Given the description of an element on the screen output the (x, y) to click on. 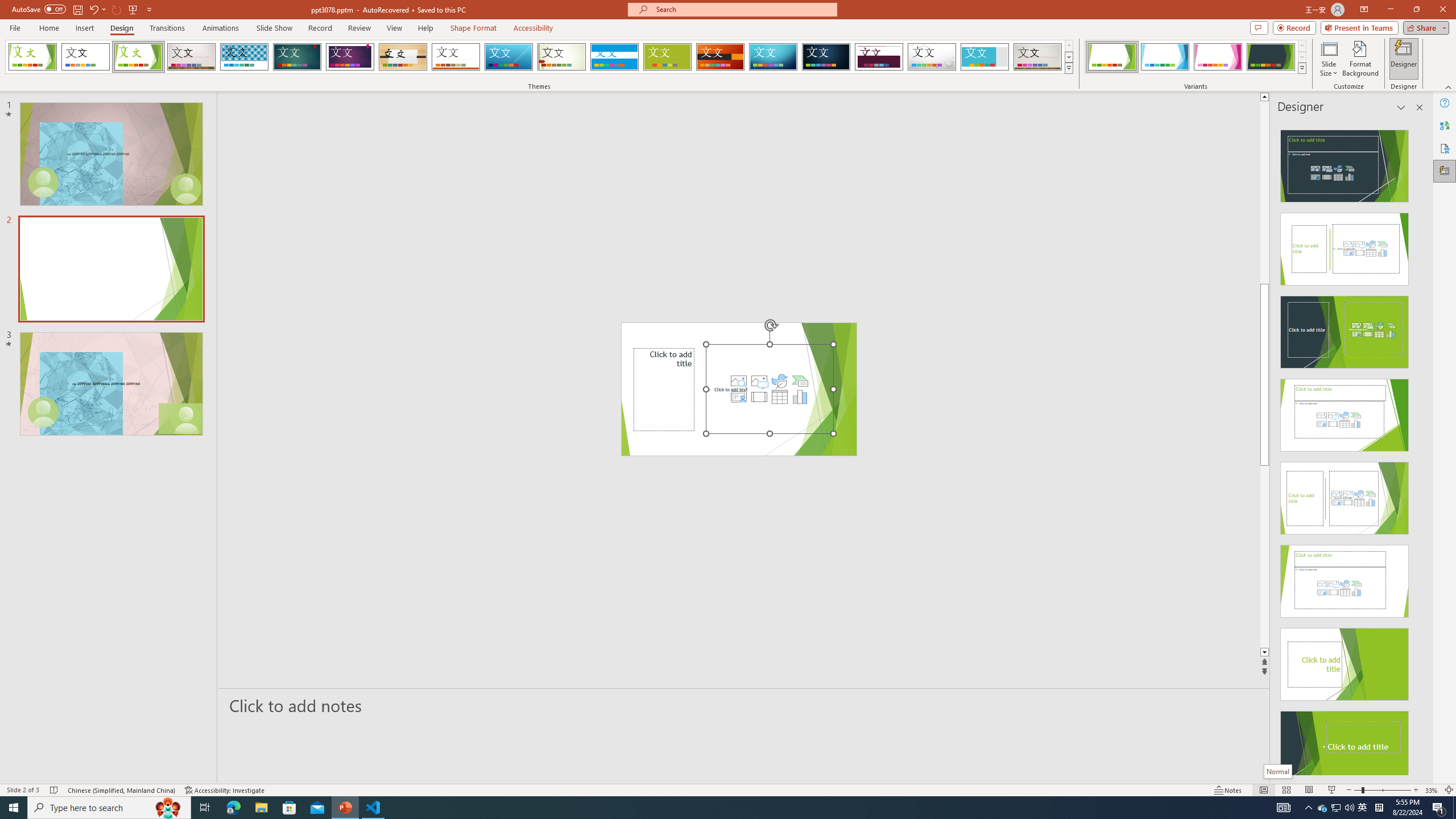
Facet Variant 2 (1164, 56)
Wisp (561, 56)
Content Placeholder (769, 388)
Berlin (720, 56)
Retrospect (455, 56)
AutomationID: SlideThemesGallery (539, 56)
